Given the description of an element on the screen output the (x, y) to click on. 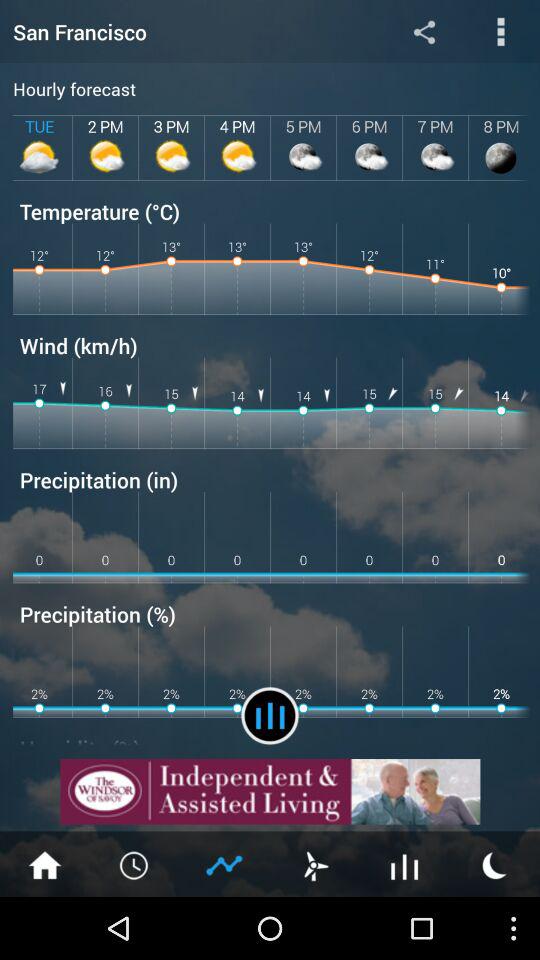
toggle hourly display (405, 864)
